Given the description of an element on the screen output the (x, y) to click on. 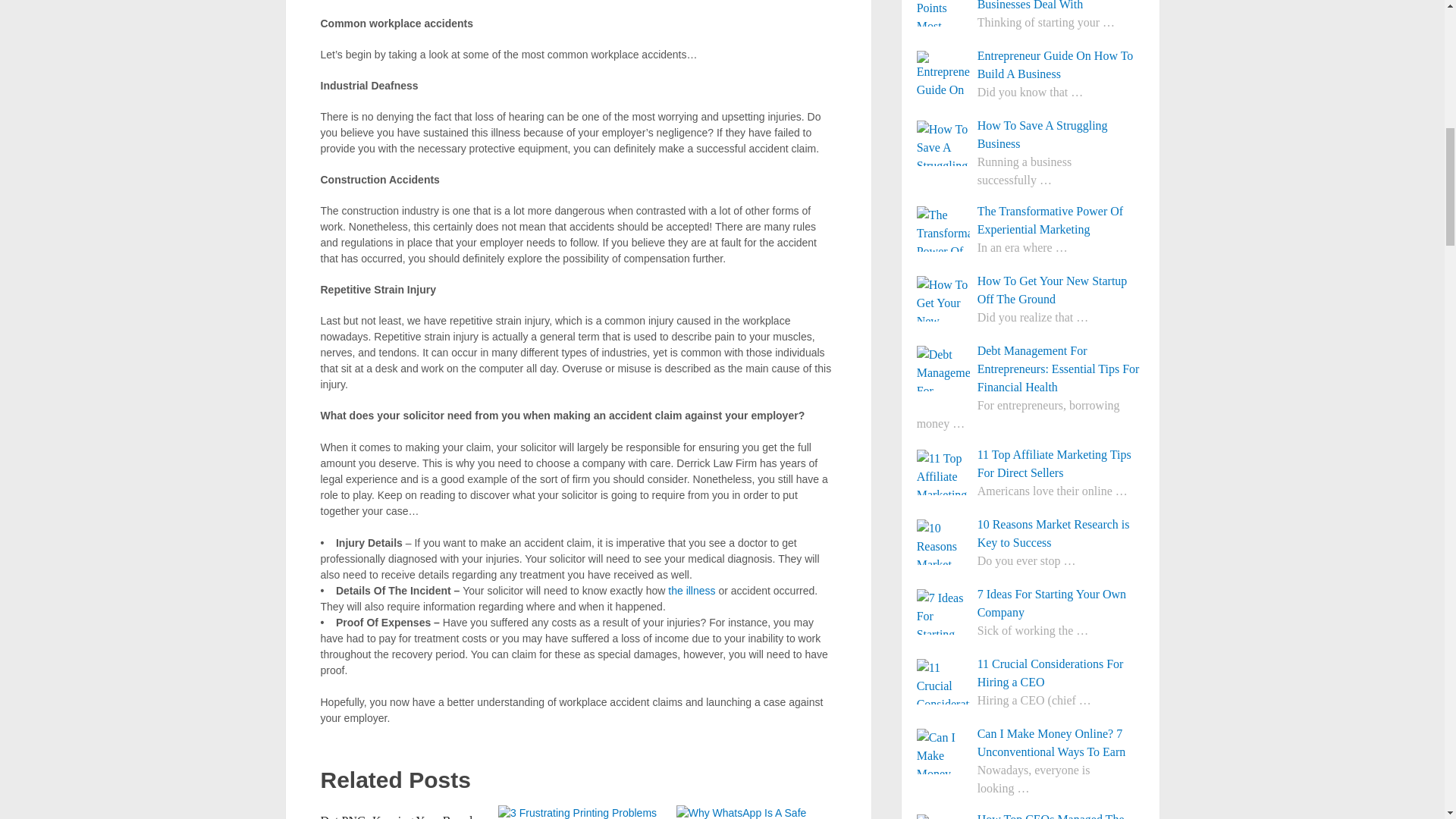
the illness (691, 590)
Dot PNG: Keeping Your Brand To Hand (395, 816)
Entrepreneur Guide On How To Build A Business (1030, 64)
3 Frustrating Printing Problems and Quick Fixes (577, 812)
Why WhatsApp Is A Safe Messaging Service (756, 812)
Dot PNG: Keeping Your Brand To Hand (395, 816)
5 Pain Points Most Small Businesses Deal With (1030, 6)
